Given the description of an element on the screen output the (x, y) to click on. 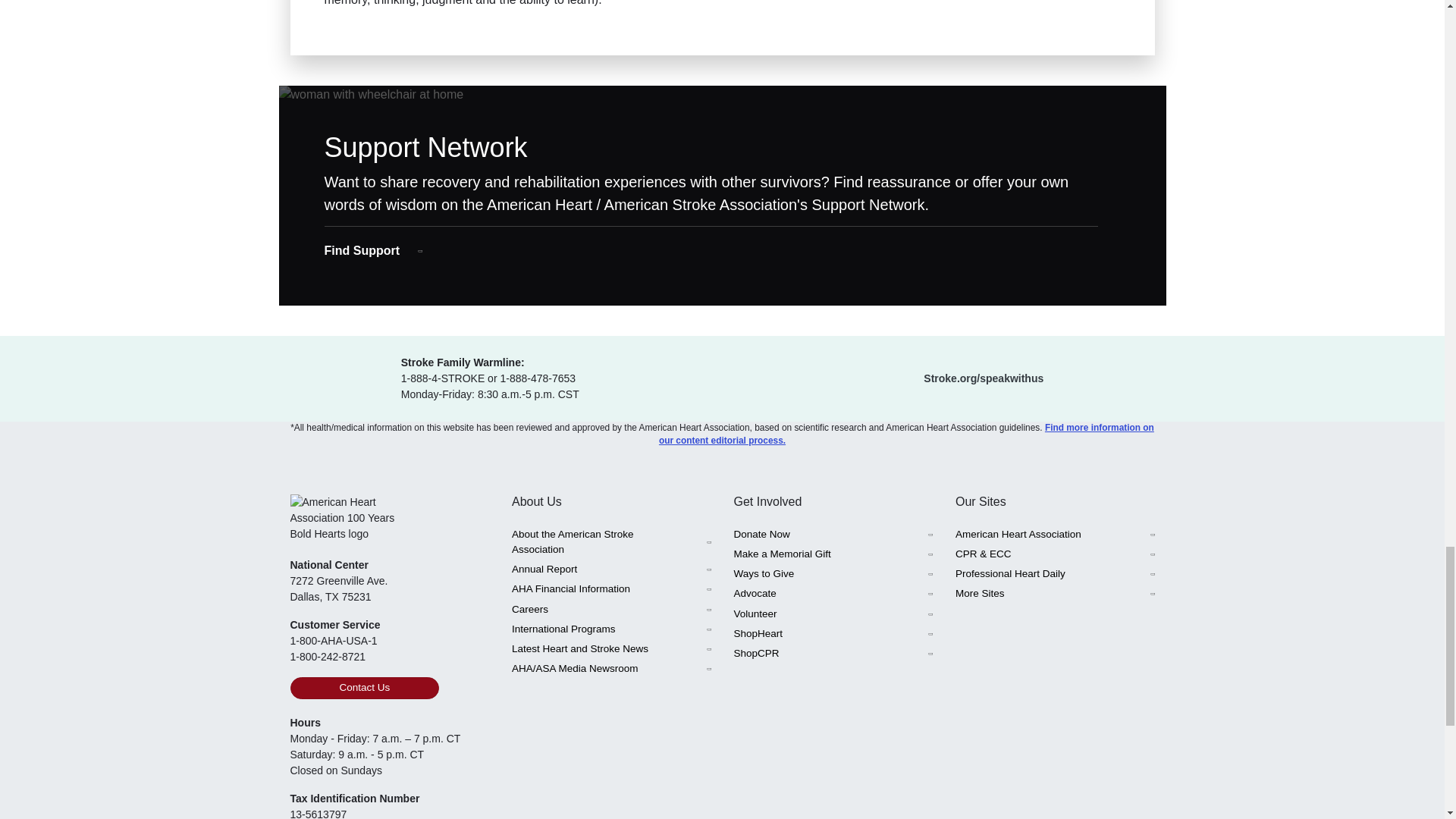
Annual Report (611, 569)
Make a Memorial Gift (833, 554)
ShopCPR (833, 653)
American Heart Association (1054, 534)
Contact Us (364, 687)
Donate Now (833, 534)
Latest Heart and Stroke News (611, 649)
Careers (611, 609)
AHA Financial Information (611, 588)
Find Support (373, 250)
ShopHeart (833, 633)
Find more information on our content editorial process. (906, 434)
International Programs (611, 629)
Advocate (833, 593)
Advocate (833, 593)
